Given the description of an element on the screen output the (x, y) to click on. 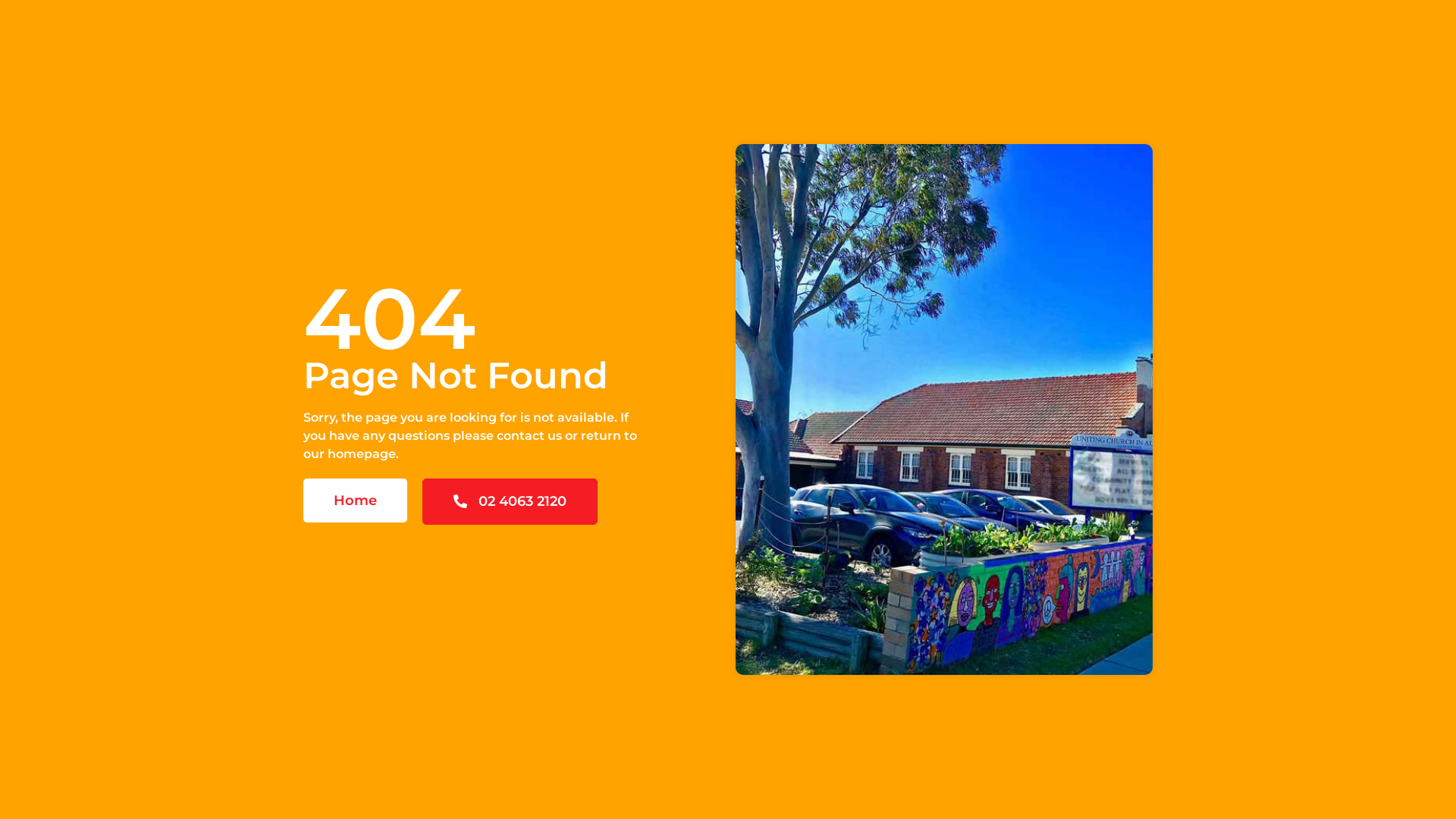
Home Element type: text (355, 499)
02 4063 2120 Element type: text (509, 500)
